Given the description of an element on the screen output the (x, y) to click on. 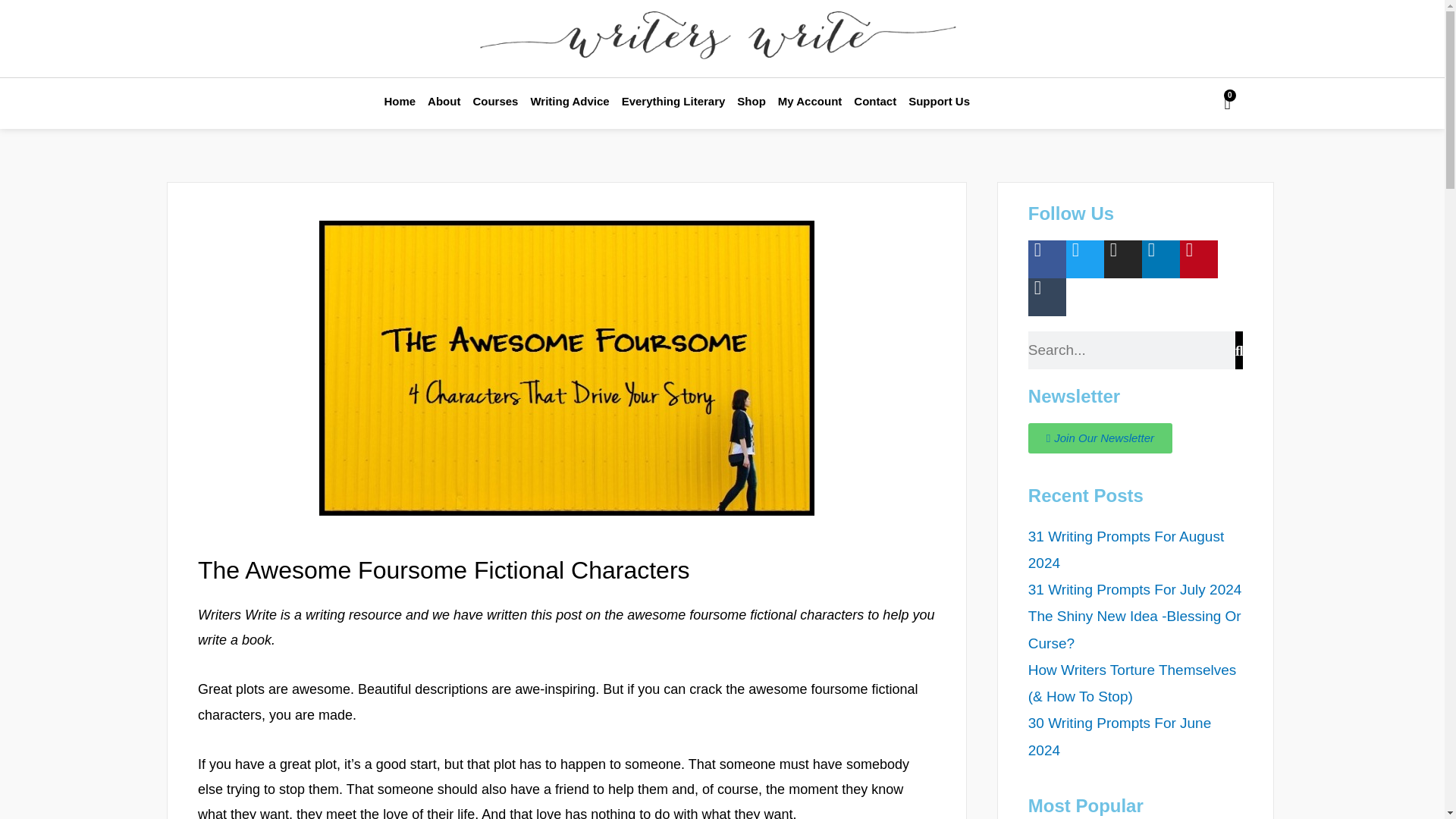
Writing Advice (569, 101)
Courses (494, 101)
Home (399, 101)
My Account (809, 101)
Shop (750, 101)
Contact (874, 101)
Everything Literary (673, 101)
About (443, 101)
Support Us (938, 101)
